Given the description of an element on the screen output the (x, y) to click on. 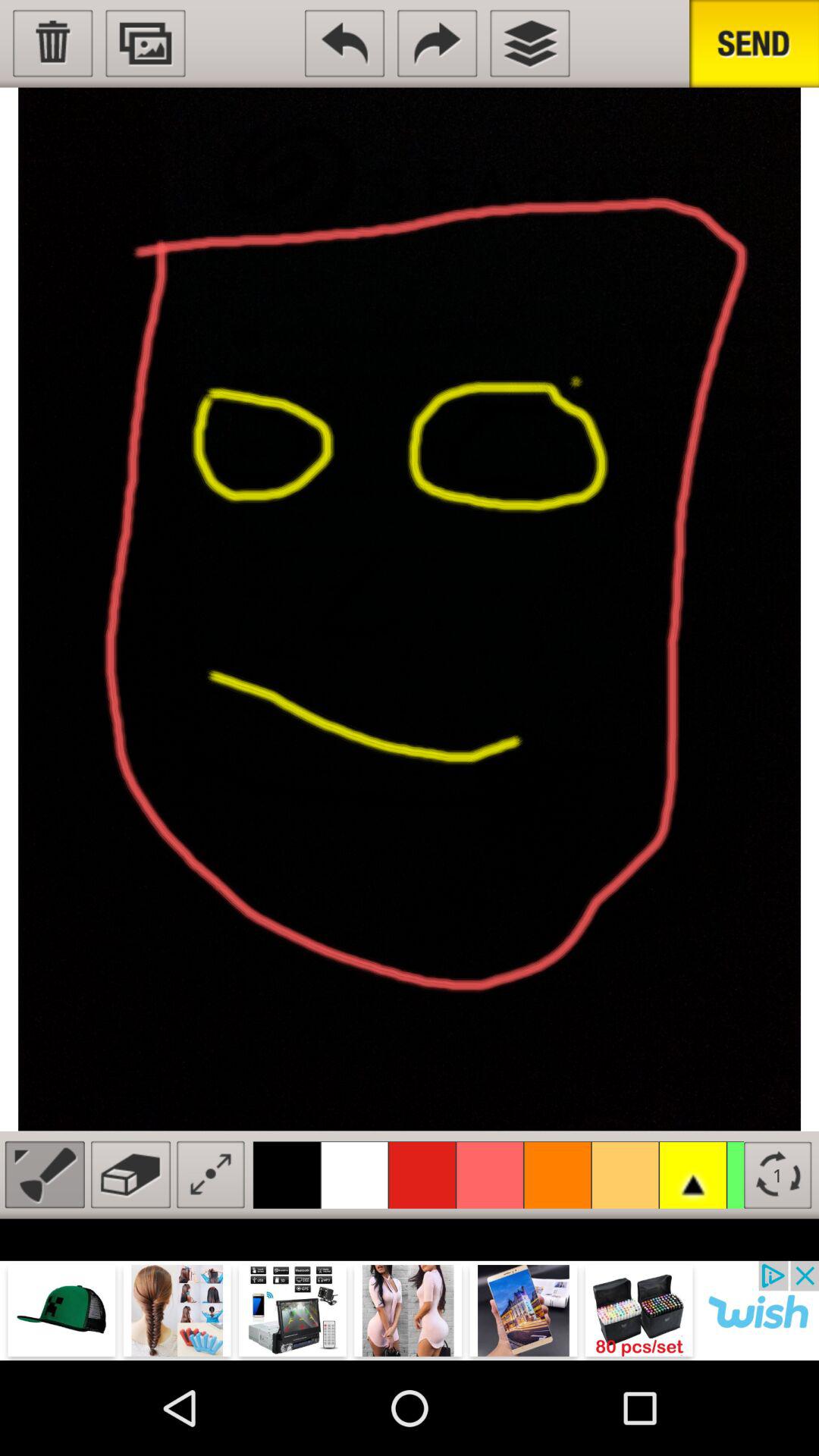
use paint brush (44, 1174)
